Given the description of an element on the screen output the (x, y) to click on. 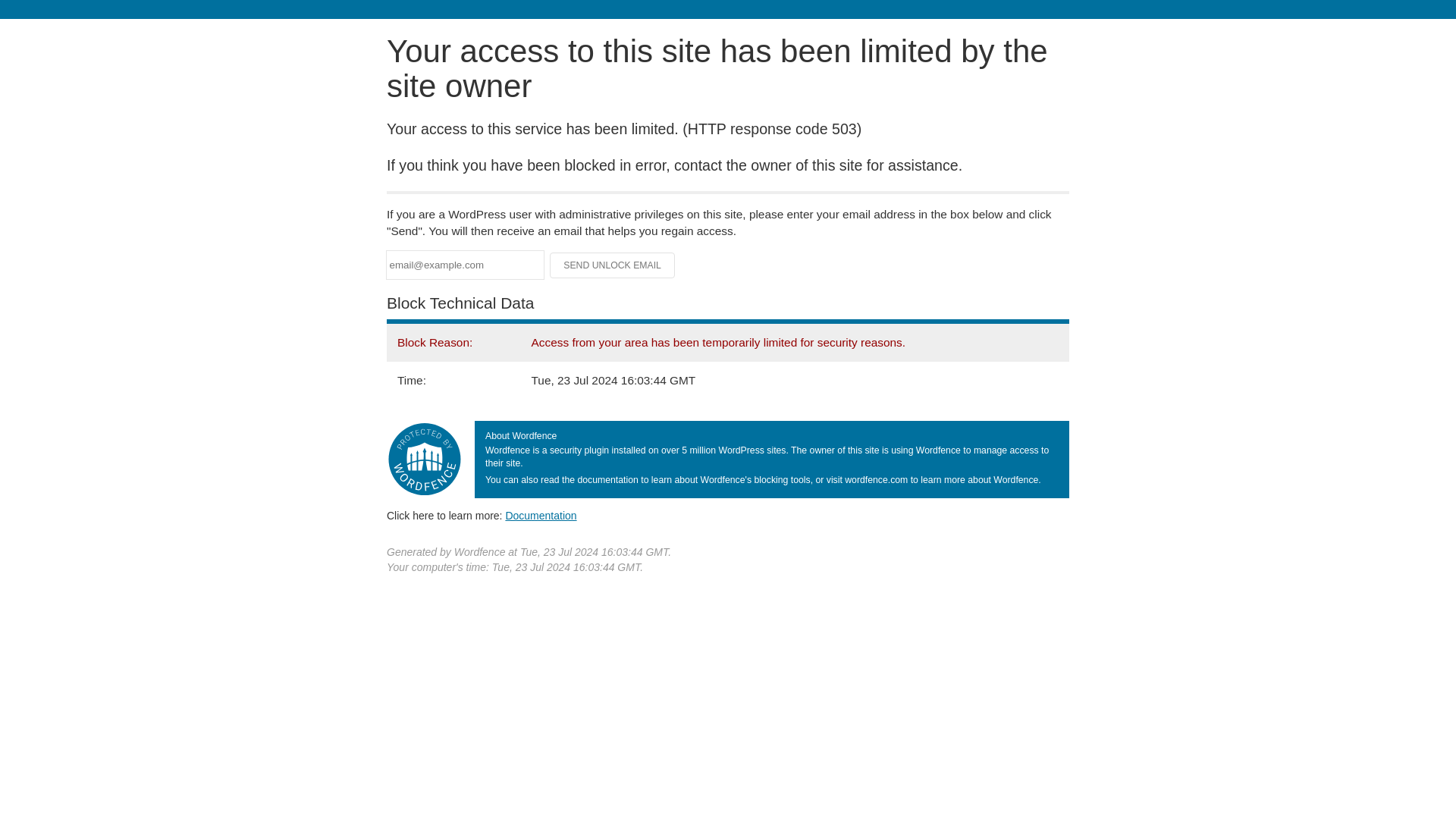
Send Unlock Email (612, 265)
Documentation (540, 515)
Send Unlock Email (612, 265)
